Given the description of an element on the screen output the (x, y) to click on. 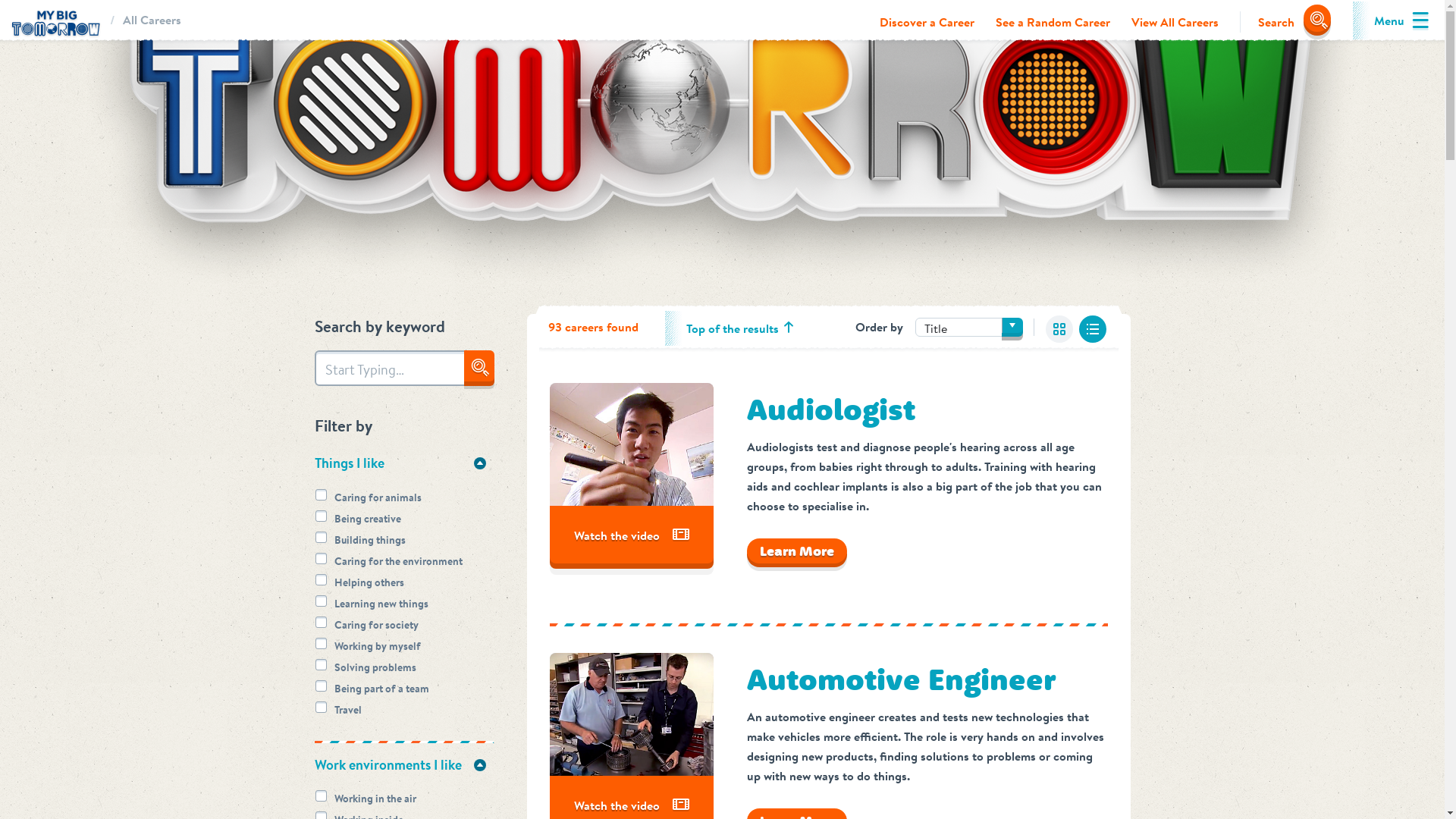
Things I like Element type: text (402, 463)
Audiologist Element type: text (830, 409)
Automotive Engineer Element type: text (900, 679)
Work environments I like Element type: text (402, 765)
Watch the video Element type: text (630, 534)
My Big Tomorrow Element type: text (55, 20)
See a Random Career Element type: text (1052, 21)
View All Careers Element type: text (1174, 21)
Top of the results Element type: text (732, 327)
Menu Element type: text (1389, 20)
Open / close - Work environments I like Element type: hover (478, 764)
Search Element type: text (1284, 21)
Learn More Element type: text (796, 550)
Discover a Career Element type: text (926, 21)
Open / close - Things I like Element type: hover (478, 462)
